Given the description of an element on the screen output the (x, y) to click on. 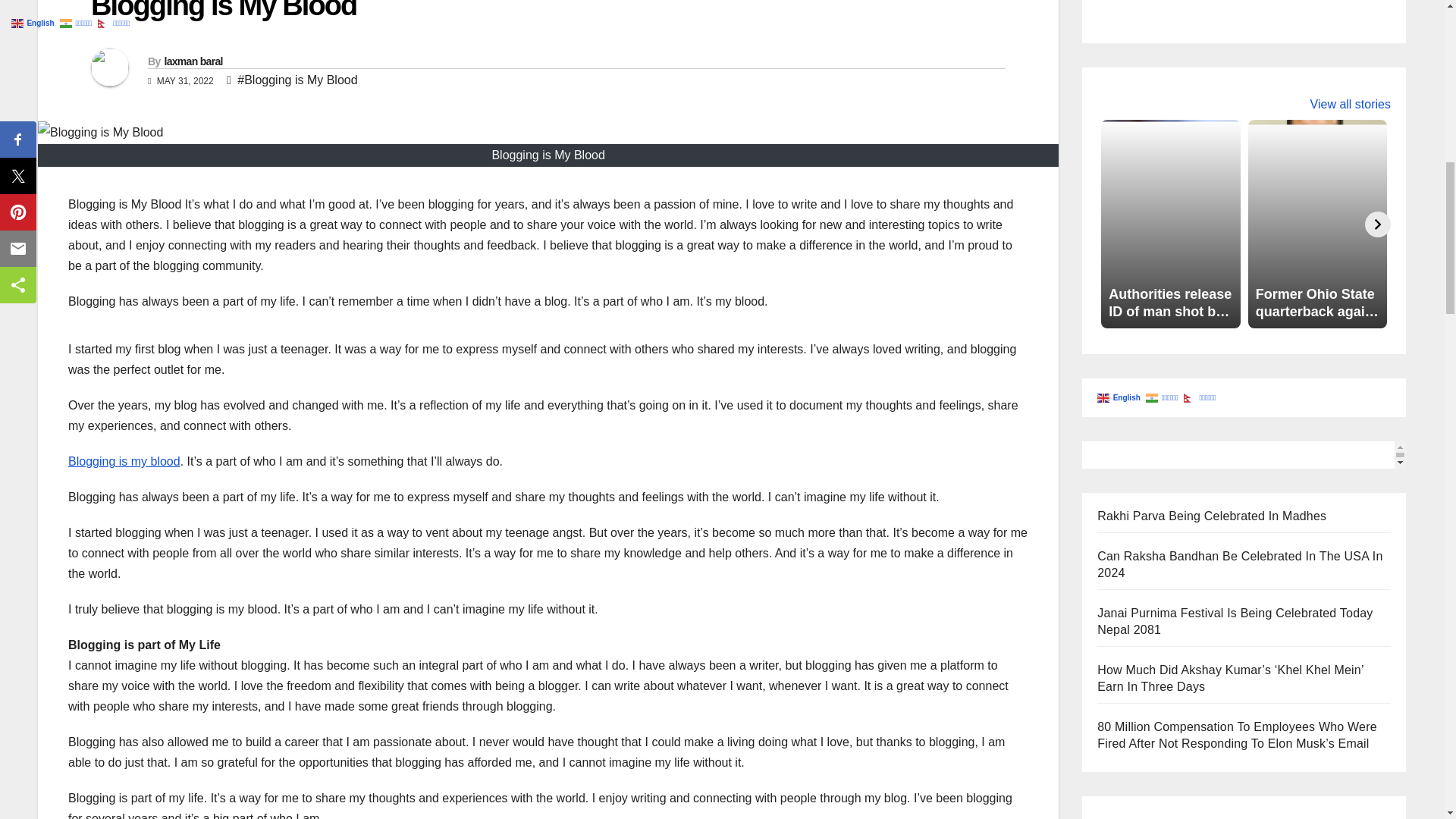
laxman baral (192, 61)
Blogging is my blood (124, 461)
Permalink to: Blogging is My Blood (223, 10)
Blogging is My Blood (223, 10)
